Given the description of an element on the screen output the (x, y) to click on. 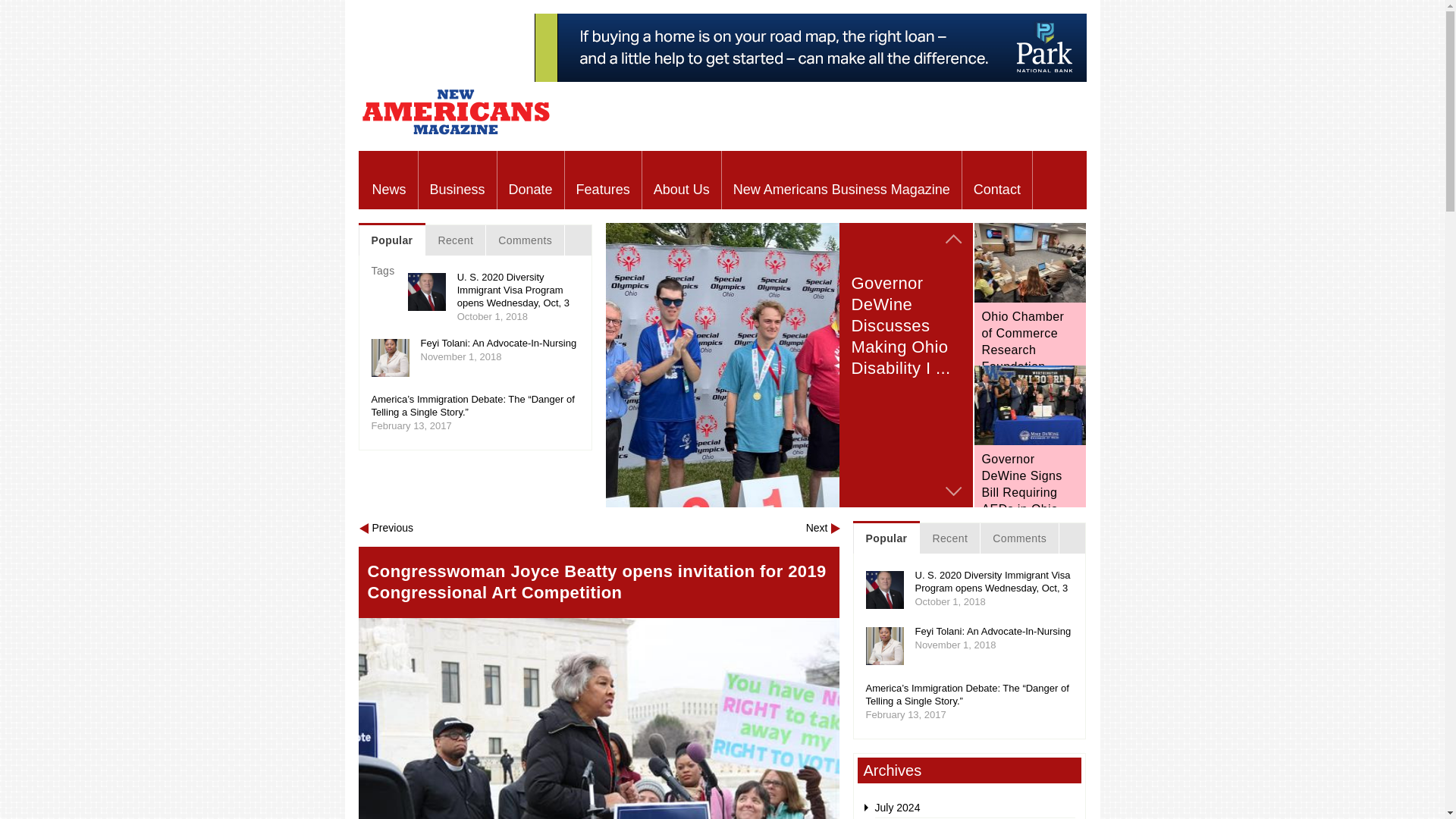
About Us (681, 179)
Recent (455, 240)
News (389, 179)
Popular (391, 240)
New Americans Business Magazine (841, 179)
Contact (997, 179)
Features (603, 179)
New Americans Magazine (454, 134)
Donate (530, 179)
Feyi Tolani: An Advocate-In-Nursing (498, 342)
Comments (525, 240)
Business (457, 179)
Tags (383, 270)
